Given the description of an element on the screen output the (x, y) to click on. 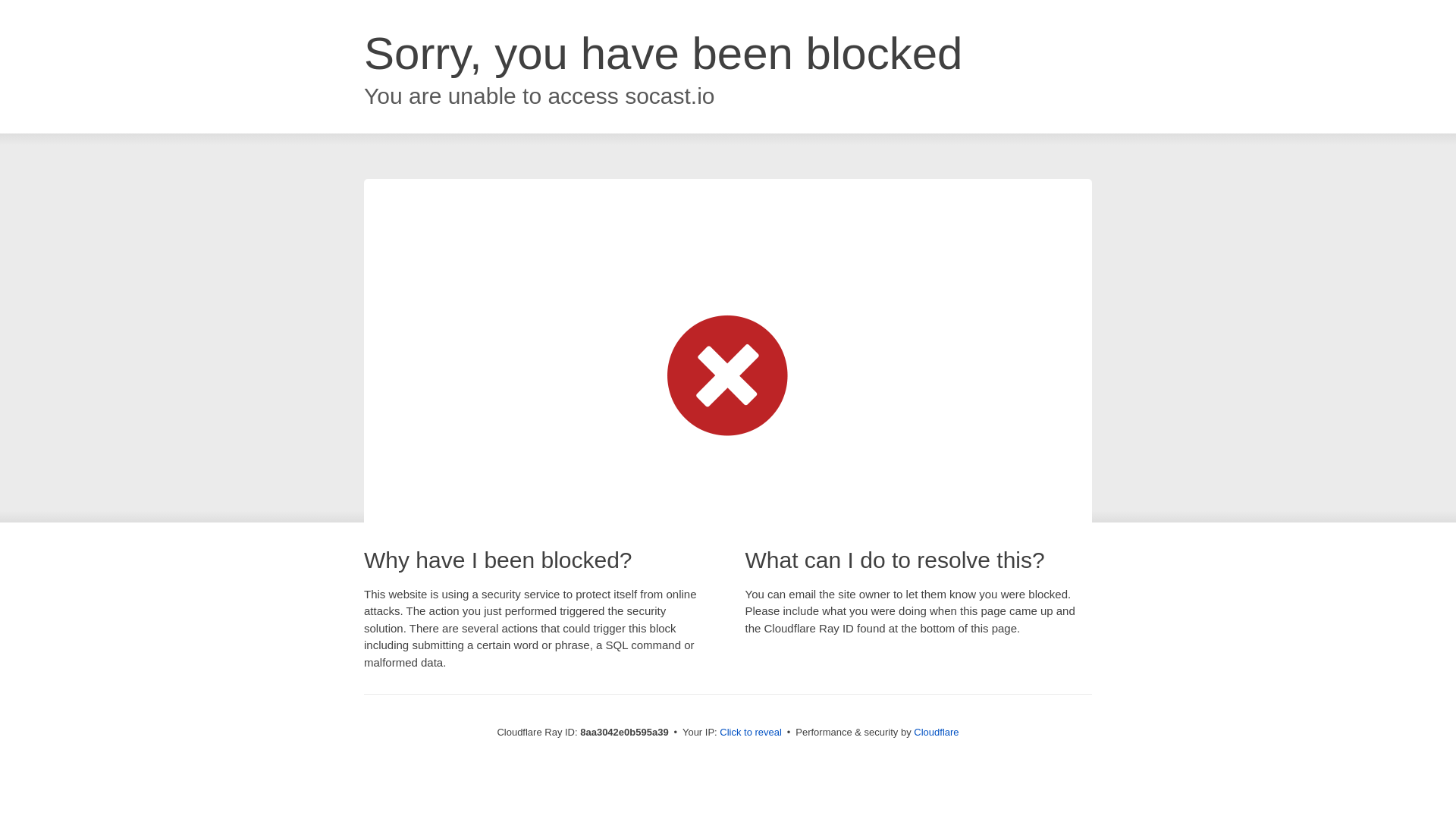
Cloudflare (936, 731)
Click to reveal (750, 732)
